Given the description of an element on the screen output the (x, y) to click on. 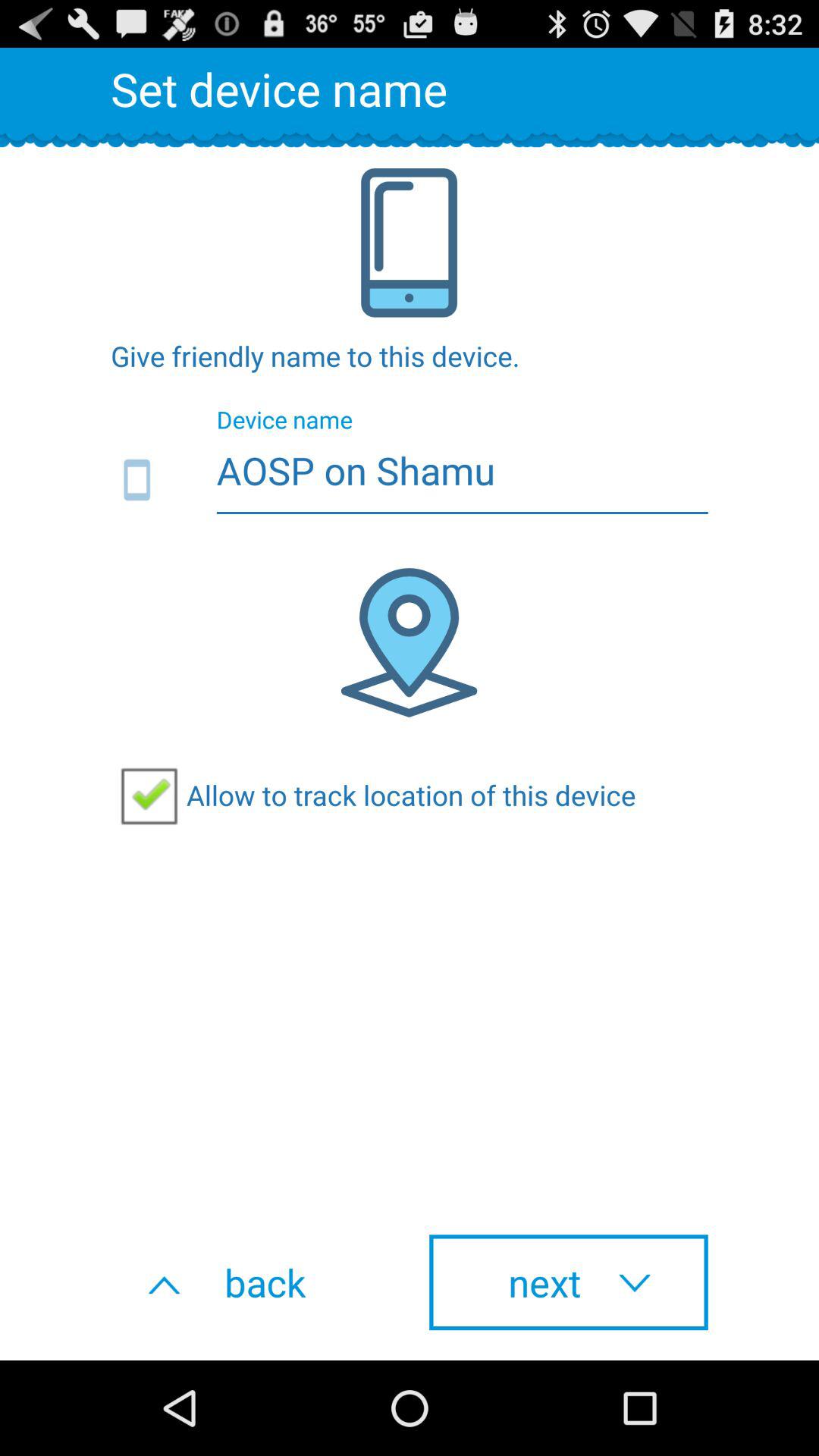
jump until aosp on shamu item (409, 480)
